Given the description of an element on the screen output the (x, y) to click on. 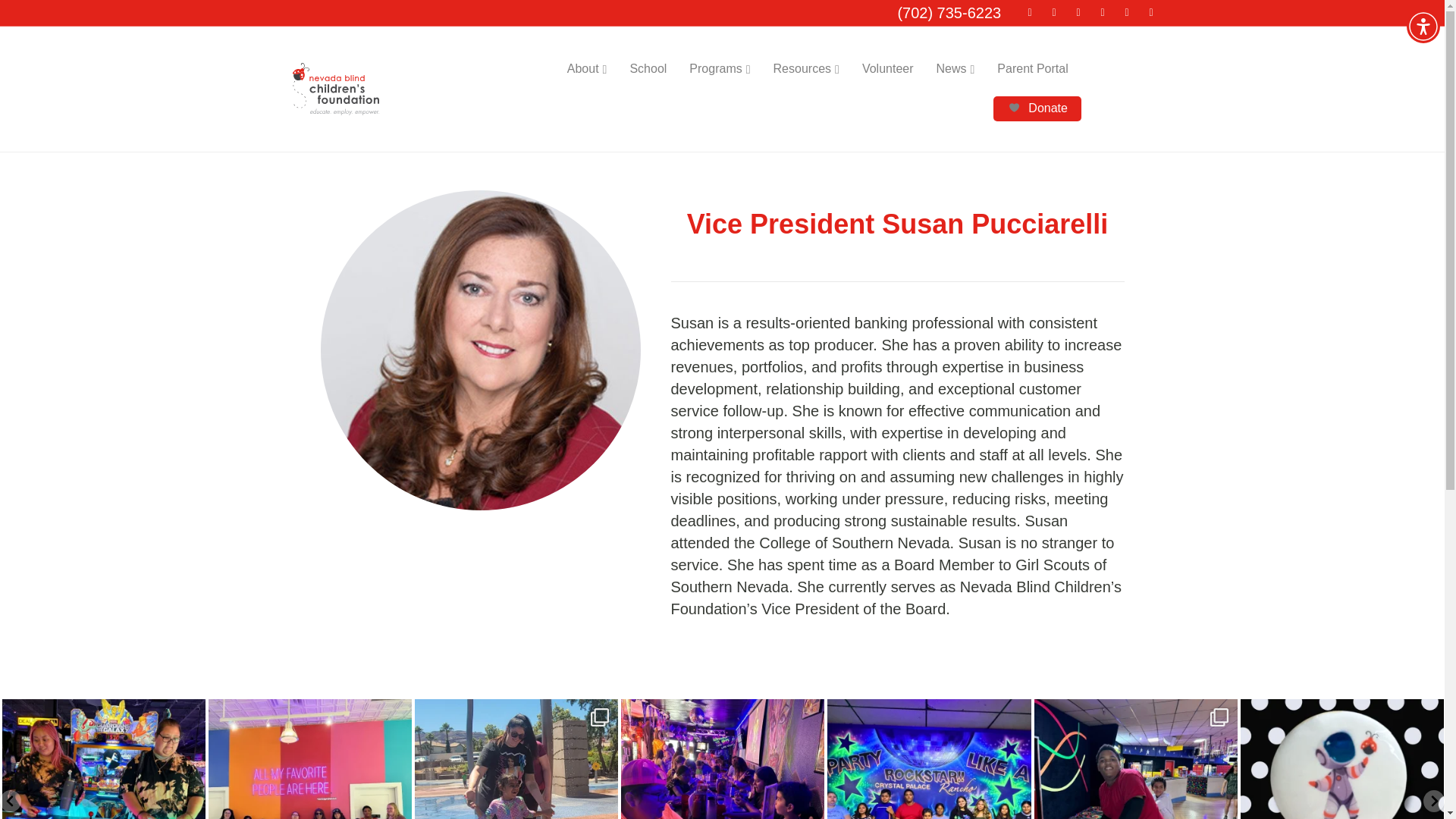
School (647, 68)
Accessibility Menu (1422, 26)
Susan-Pucciarelli-square (480, 350)
Youtube (1091, 11)
About (587, 69)
Email (1140, 11)
Donate (1036, 108)
Parent Portal (1031, 68)
Twitter (1042, 11)
Resources (805, 69)
Linkedin (1067, 11)
News (955, 69)
Instagram (1115, 11)
Volunteer (887, 68)
Facebook (1018, 11)
